Given the description of an element on the screen output the (x, y) to click on. 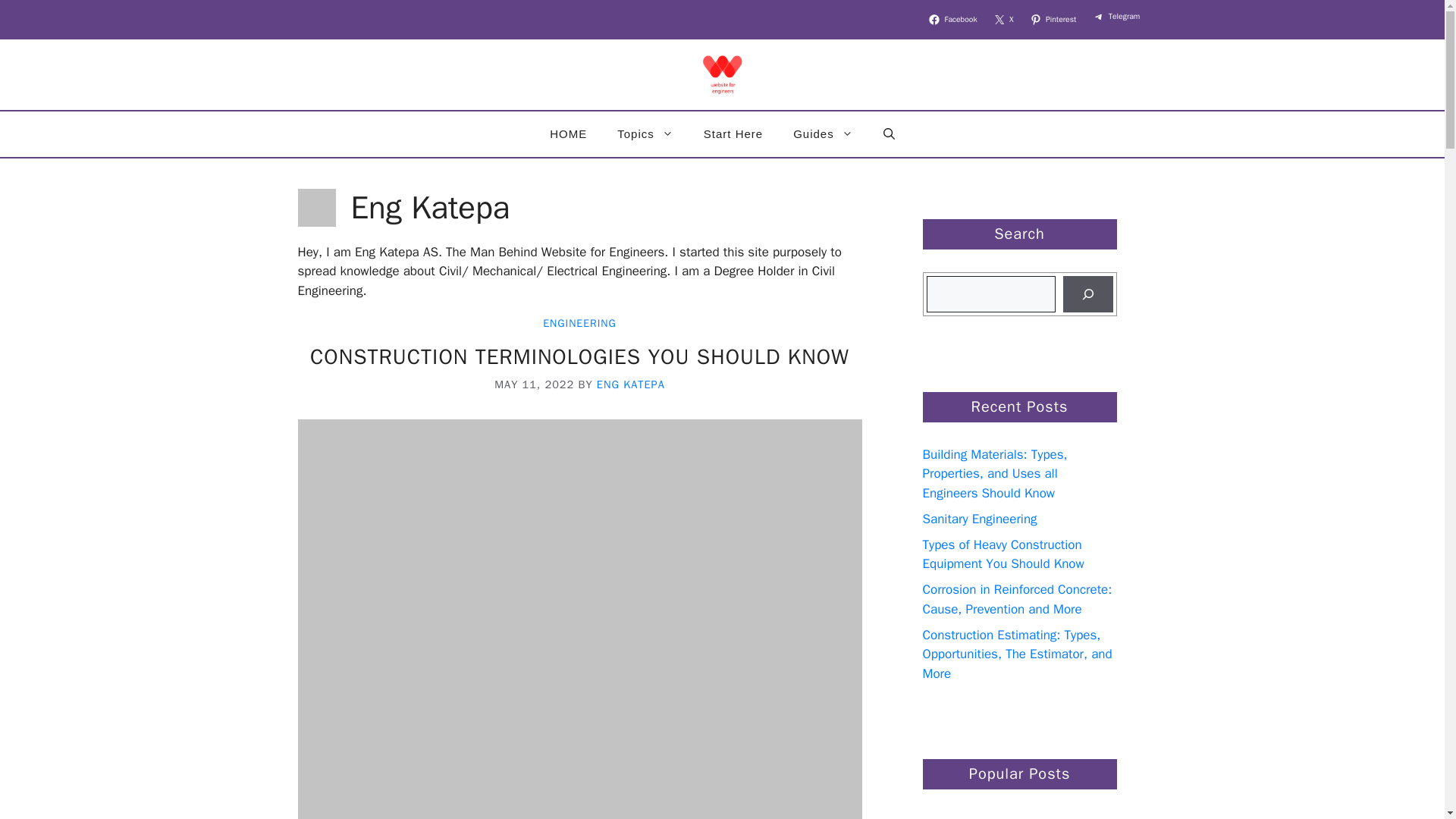
Topics (645, 134)
CONSTRUCTION TERMINOLOGIES YOU SHOULD KNOW (579, 356)
ENGINEERING (579, 323)
ENG KATEPA (630, 384)
Start Here (732, 134)
Pinterest (1054, 19)
Guides (822, 134)
X (1005, 19)
Facebook (954, 19)
HOME (568, 134)
